Given the description of an element on the screen output the (x, y) to click on. 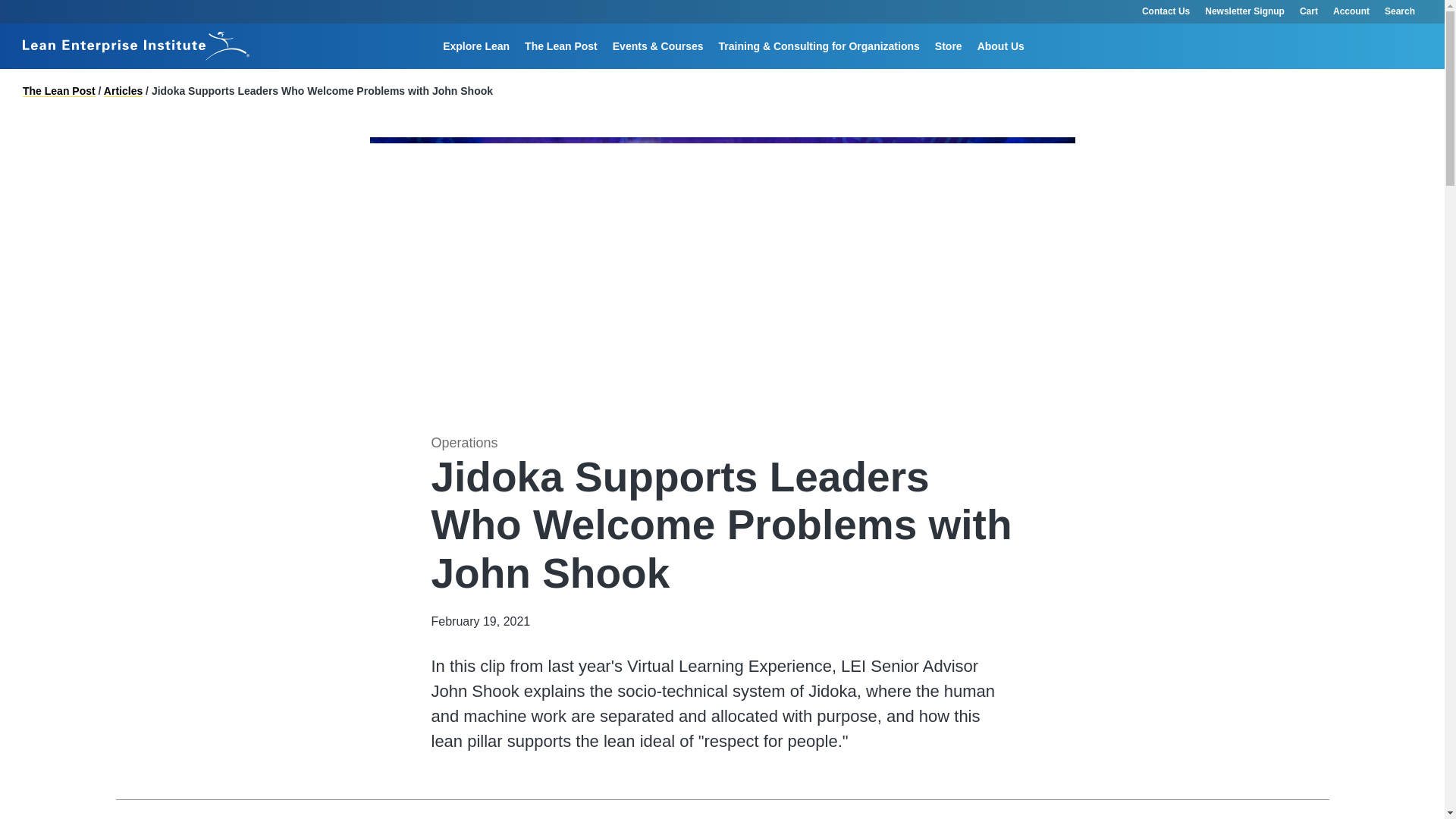
Cart (1308, 11)
The Lean Post (560, 45)
Newsletter Signup (1244, 11)
Account (1350, 11)
Explore Lean (475, 45)
Search (1407, 11)
Search (924, 68)
The Lean Post (560, 45)
Contact Us (1165, 11)
Explore Lean (475, 45)
